Given the description of an element on the screen output the (x, y) to click on. 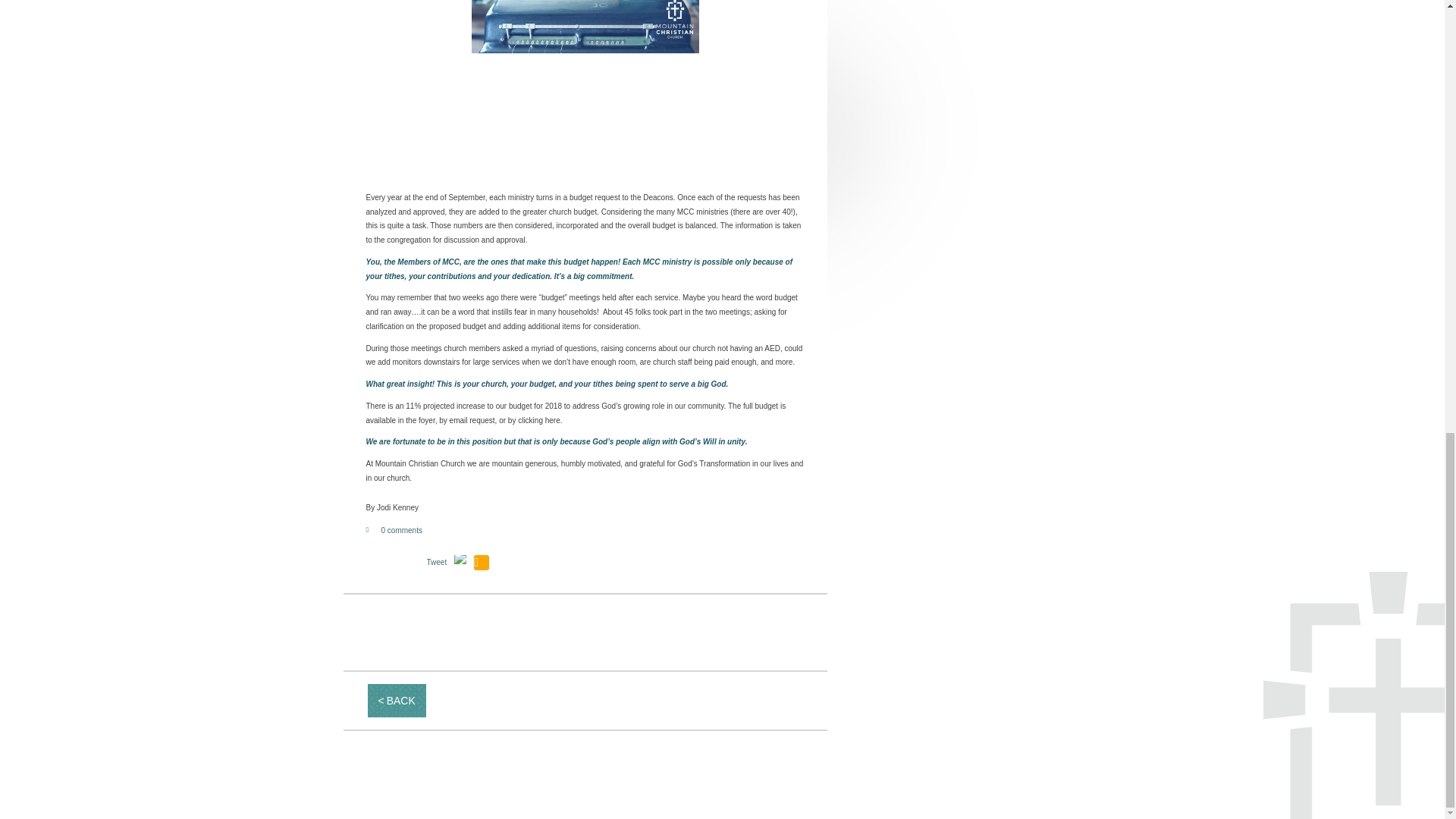
Tweet (436, 563)
BACK (395, 700)
0 comments (401, 530)
